Given the description of an element on the screen output the (x, y) to click on. 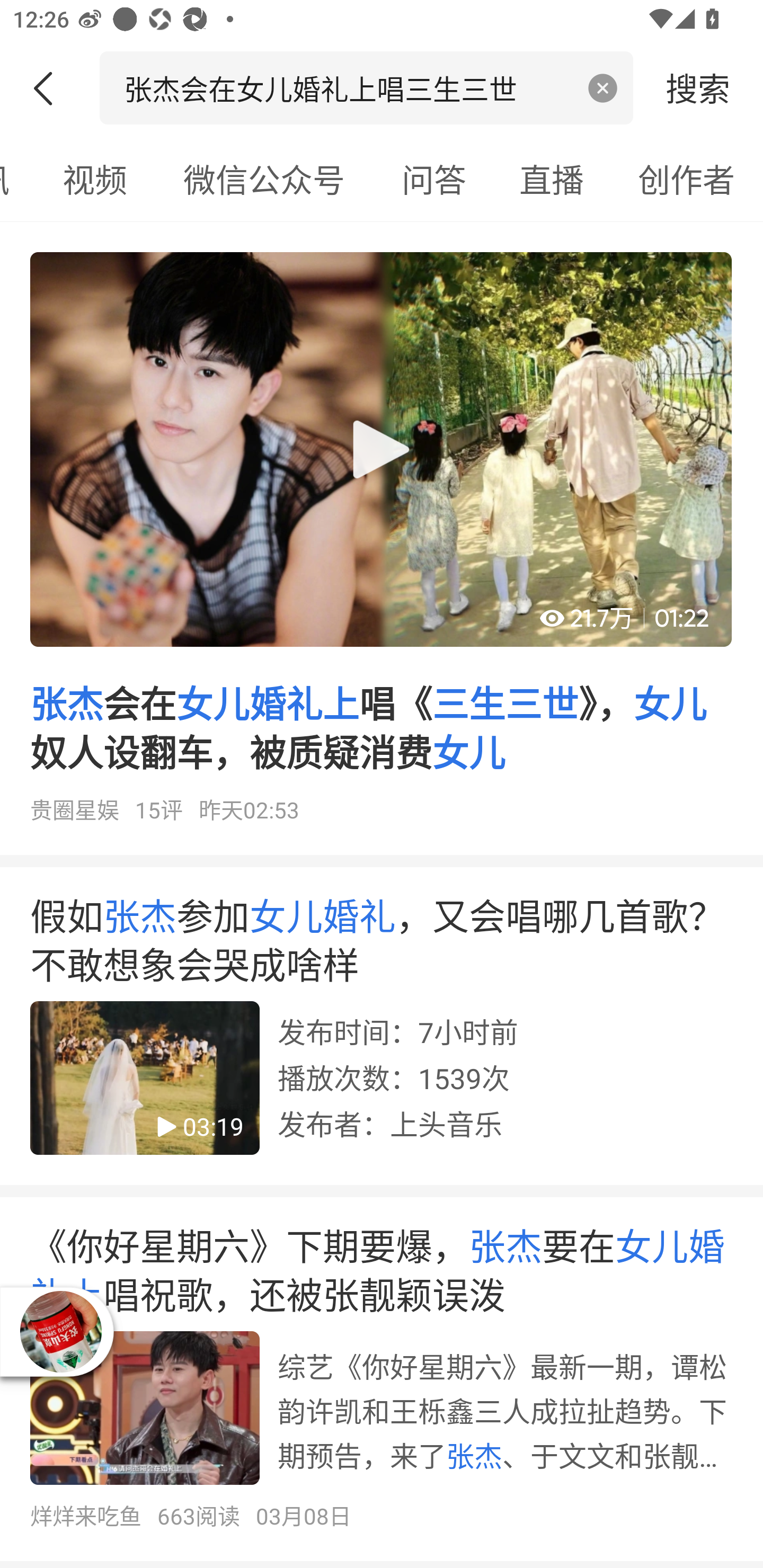
返回 (49, 87)
搜索 (698, 87)
张杰会在女儿婚礼上唱三生三世 (347, 87)
清空 (602, 88)
视频，可选中 (94, 179)
微信公众号，可选中 (264, 179)
问答，可选中 (433, 179)
直播，可选中 (551, 179)
创作者，可选中 (686, 179)
张杰会在女儿婚礼上唱《三生三世》，女儿奴人设翻车，被质疑消费女儿 (381, 544)
假如张杰参加女儿婚礼，又会唱哪几首歌？不敢想象会哭成啥样 (381, 1032)
播放器 (60, 1331)
